Given the description of an element on the screen output the (x, y) to click on. 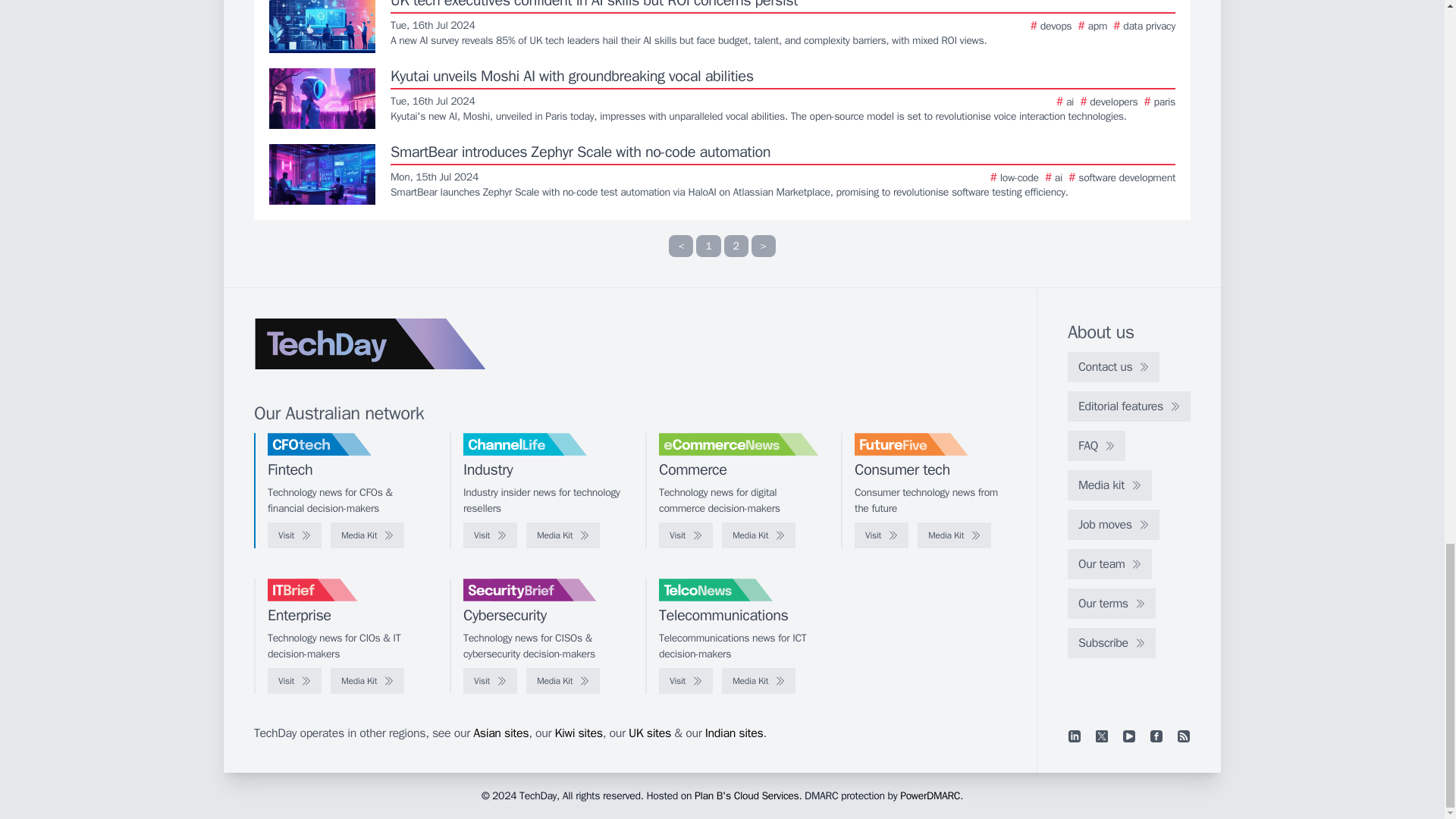
Visit (489, 534)
2 (735, 246)
1 (707, 246)
Media Kit (562, 534)
Visit (294, 534)
Media Kit (367, 534)
